Given the description of an element on the screen output the (x, y) to click on. 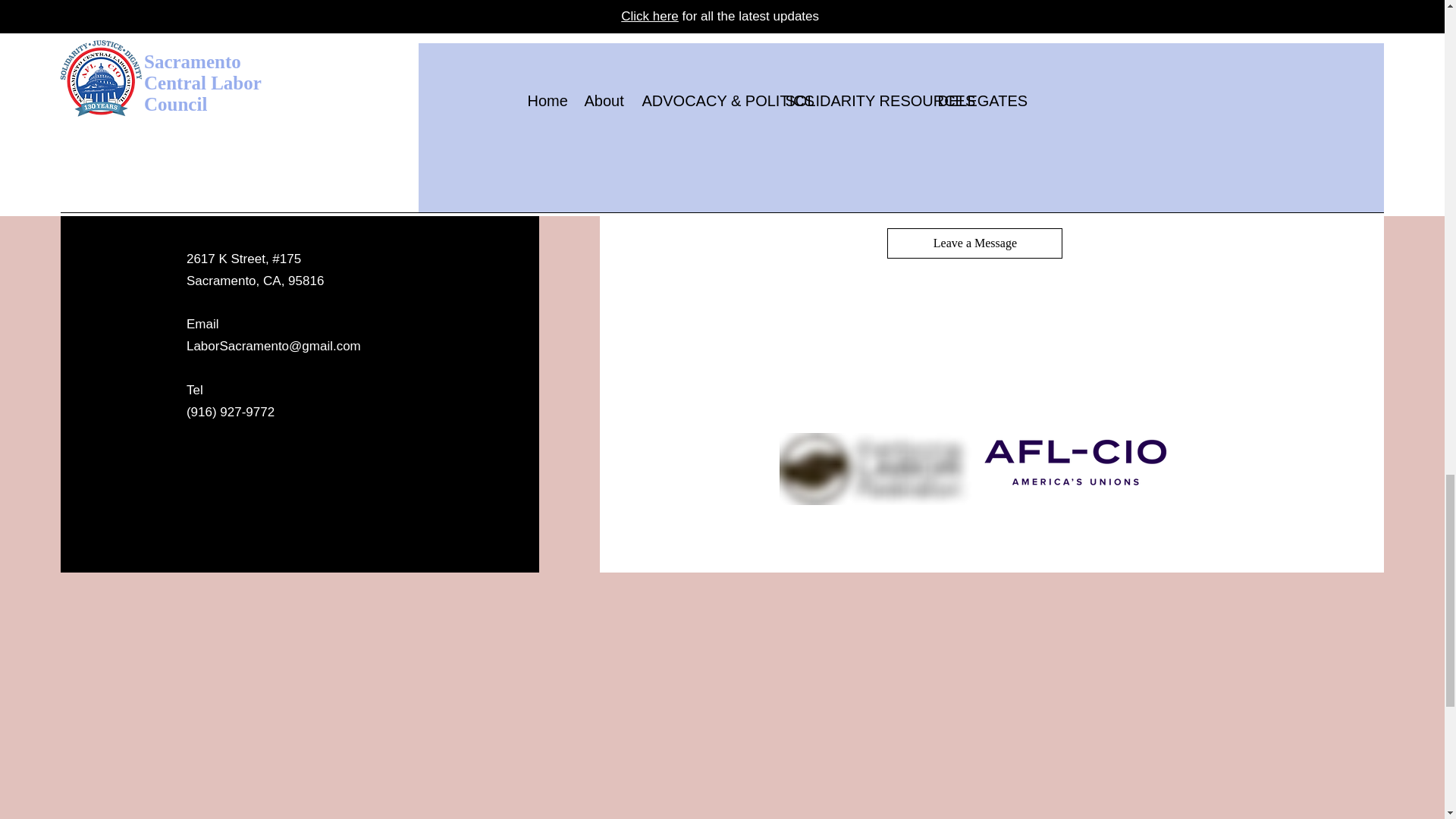
A year of hardships ends with hope (1046, 101)
Honoring Our Dear Friend Dean Murakami (800, 101)
West Sacramento elects Labor candidates (967, 49)
